Given the description of an element on the screen output the (x, y) to click on. 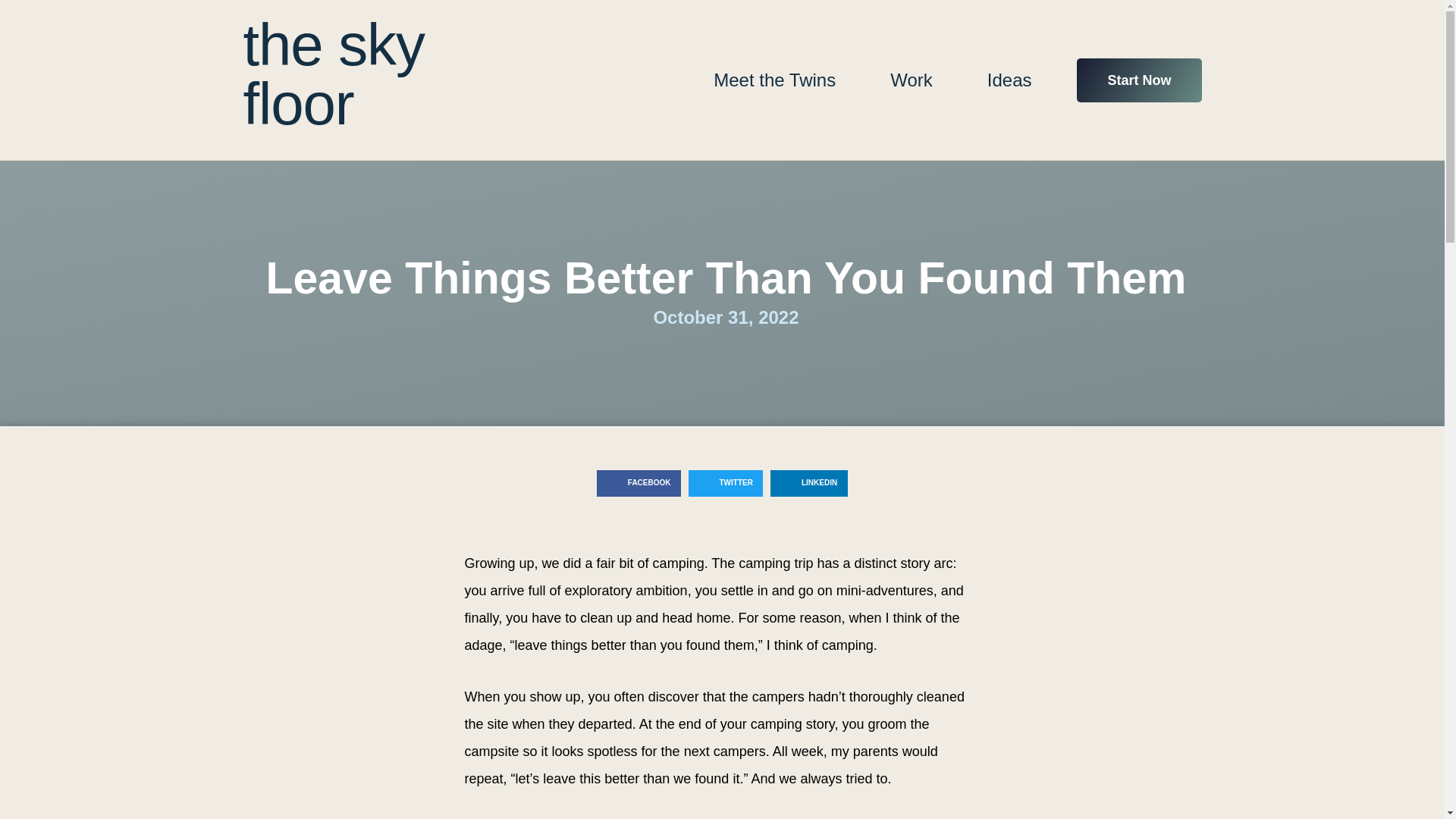
Meet the Twins (774, 79)
Work (911, 79)
the sky floor (333, 74)
Ideas (1009, 79)
Start Now (1139, 79)
